Given the description of an element on the screen output the (x, y) to click on. 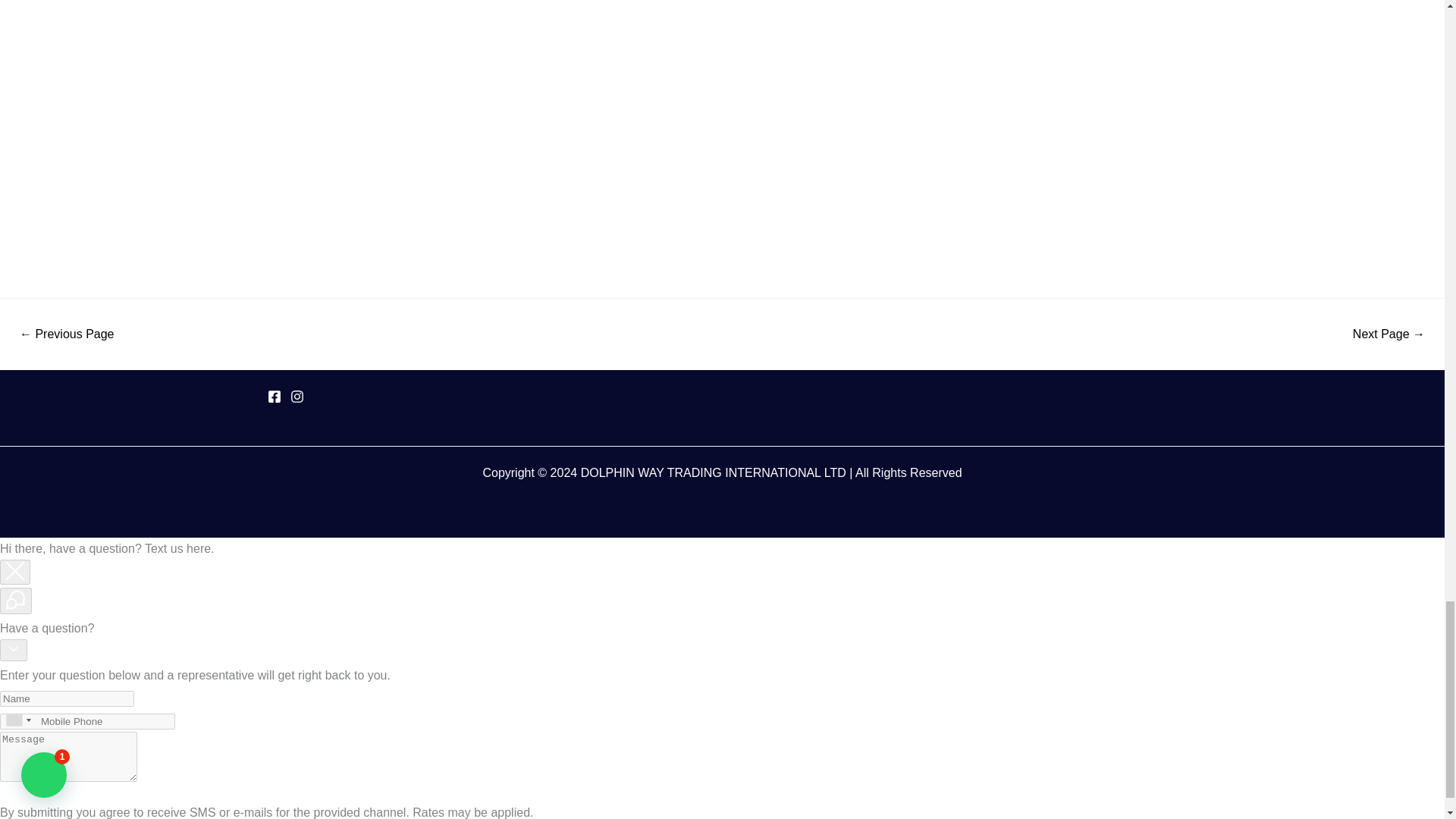
Contact us (66, 334)
Website Design (1388, 334)
